Given the description of an element on the screen output the (x, y) to click on. 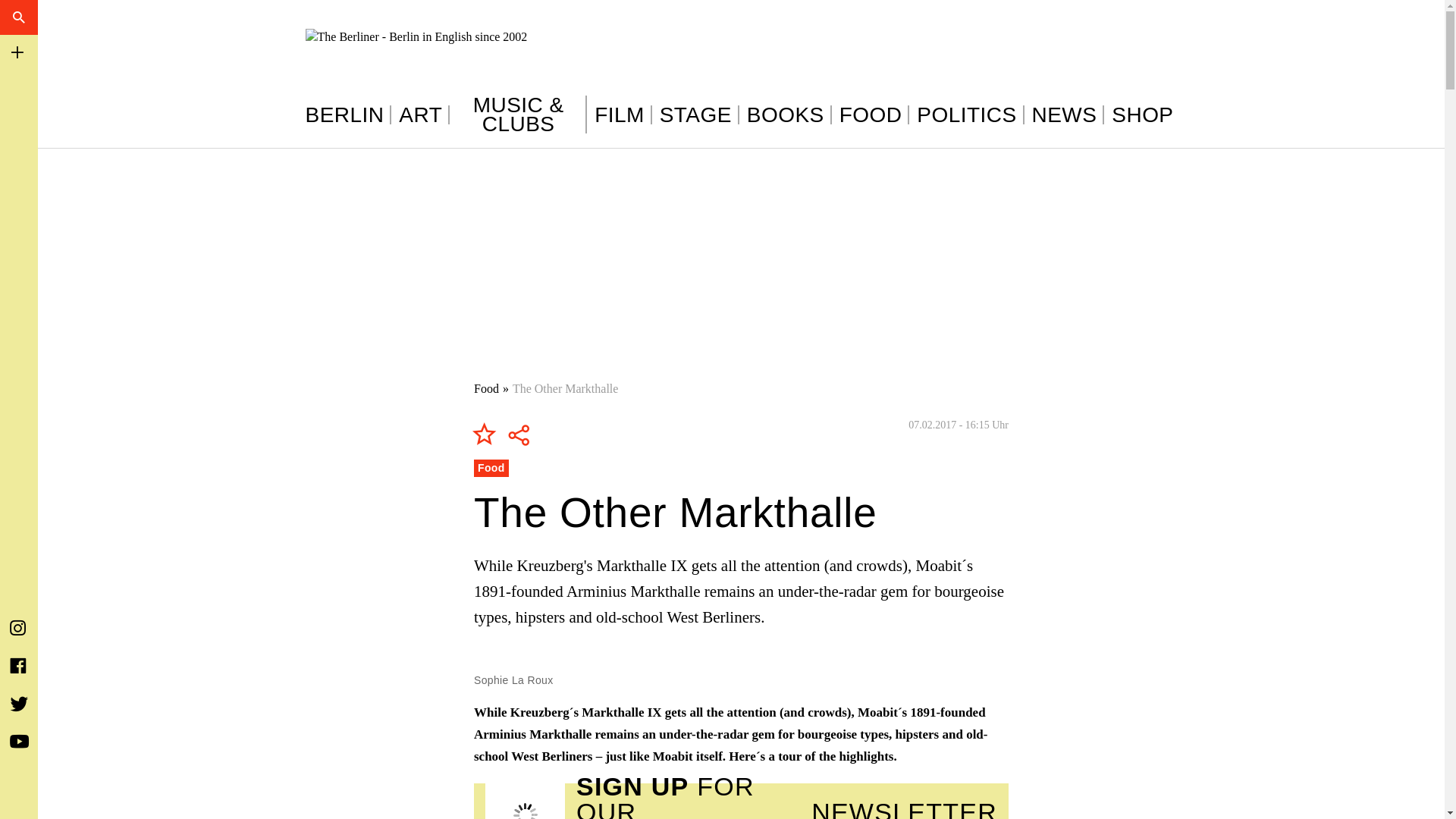
BERLIN (347, 114)
Books (788, 114)
News (1068, 114)
NEWS (1068, 114)
Stage (699, 114)
Film (623, 114)
Politics (970, 114)
Berlin (347, 114)
ART (423, 114)
FILM (623, 114)
Food (486, 388)
STAGE (699, 114)
POLITICS (970, 114)
FOOD (875, 114)
Shop (1142, 114)
